Given the description of an element on the screen output the (x, y) to click on. 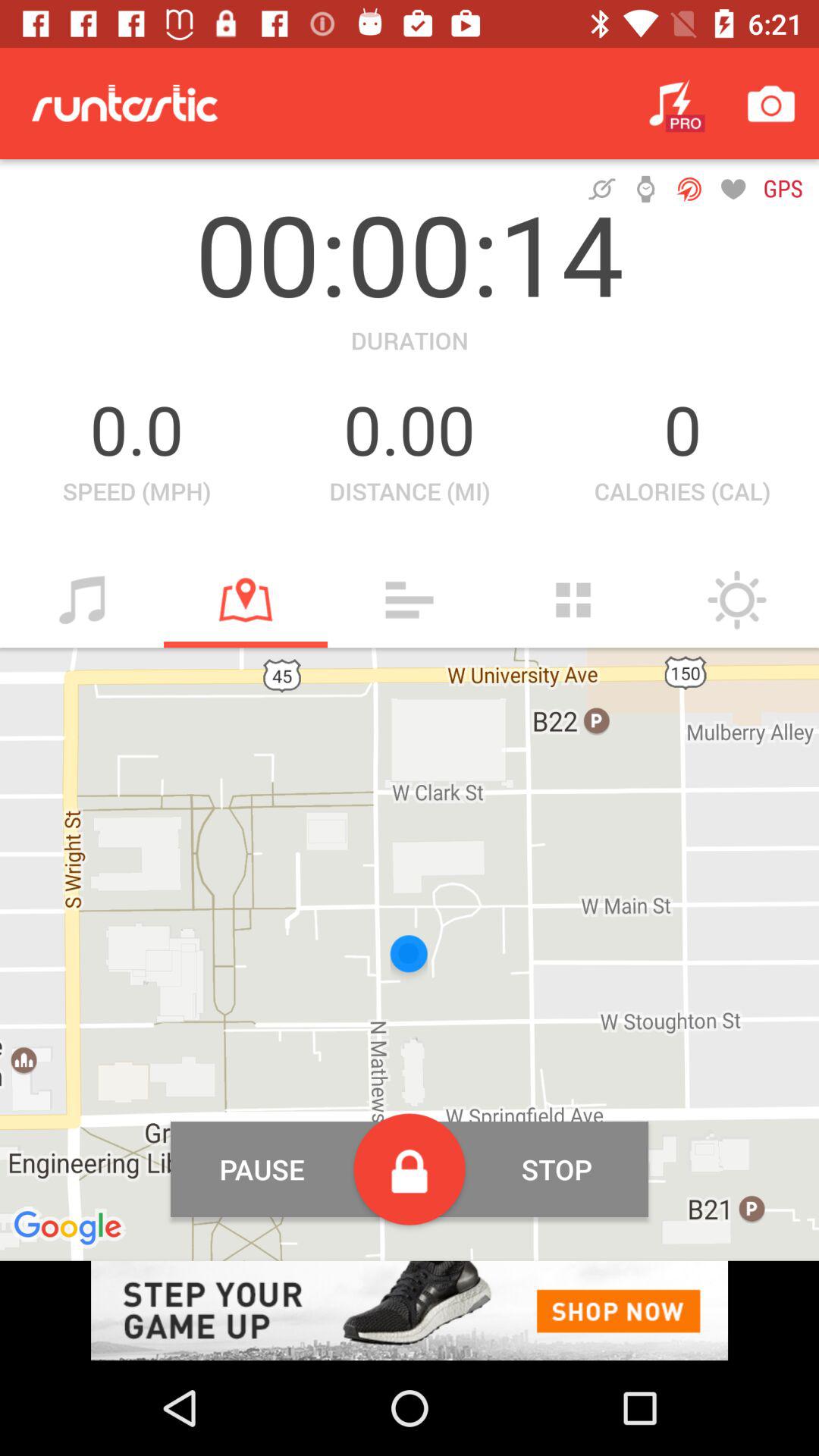
mark location button (245, 599)
